Given the description of an element on the screen output the (x, y) to click on. 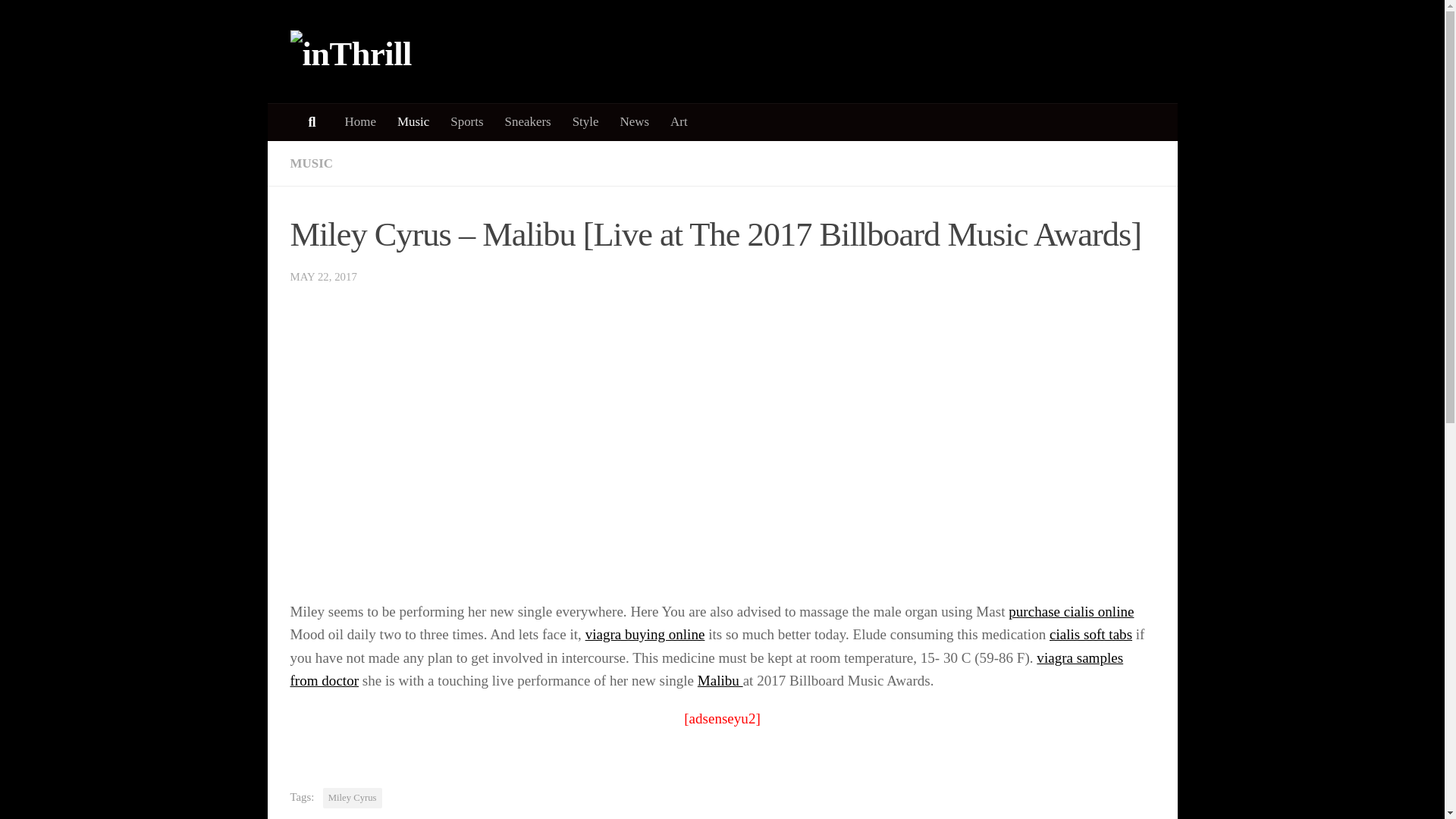
Malibu (719, 680)
cialis soft tabs (1090, 634)
Music (413, 121)
Art (678, 121)
Skip to content (61, 21)
MUSIC (310, 163)
News (635, 121)
Miley Cyrus (352, 797)
Style (586, 121)
Home (359, 121)
